Given the description of an element on the screen output the (x, y) to click on. 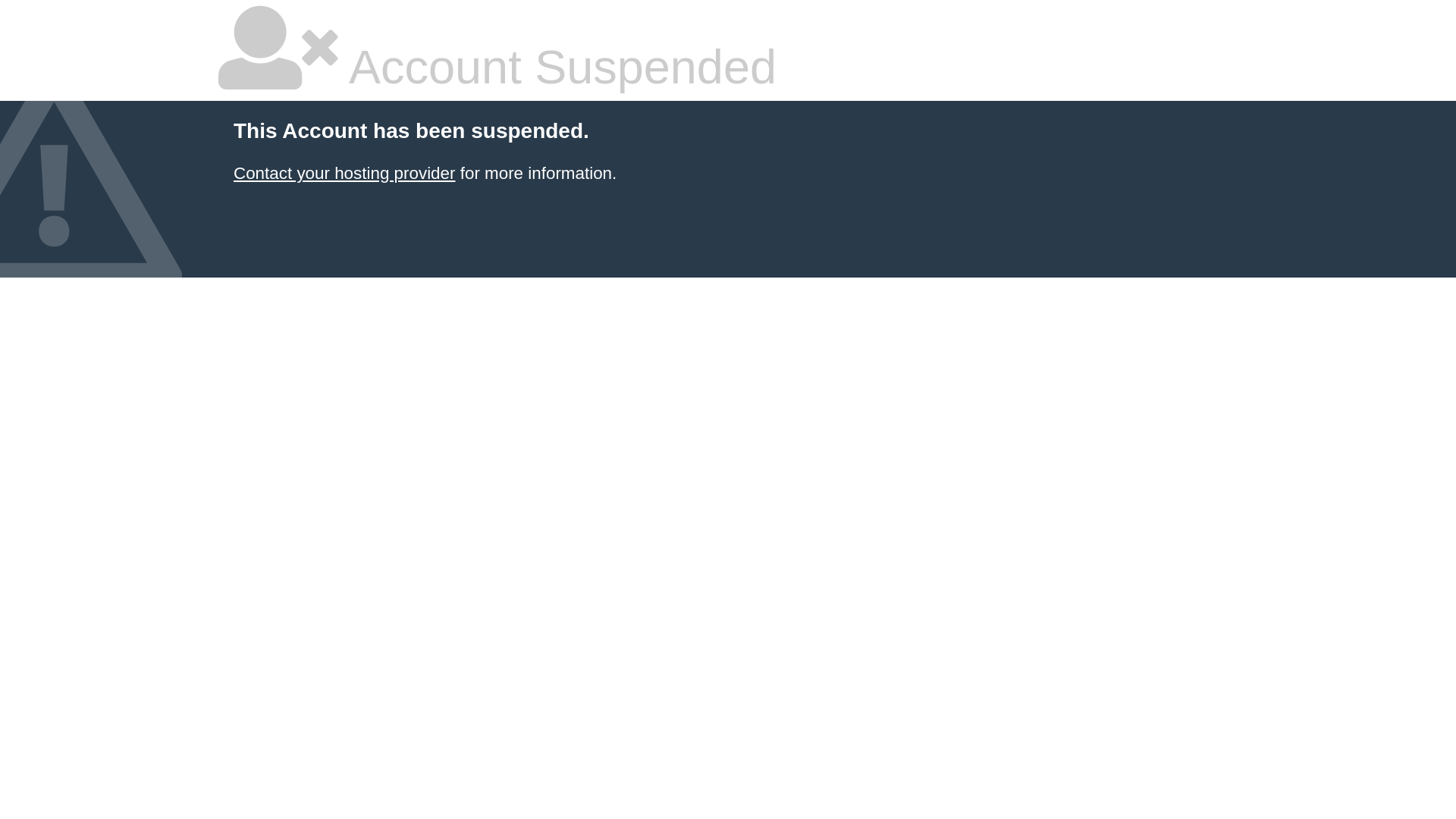
Contact your hosting provider Element type: text (344, 172)
